Given the description of an element on the screen output the (x, y) to click on. 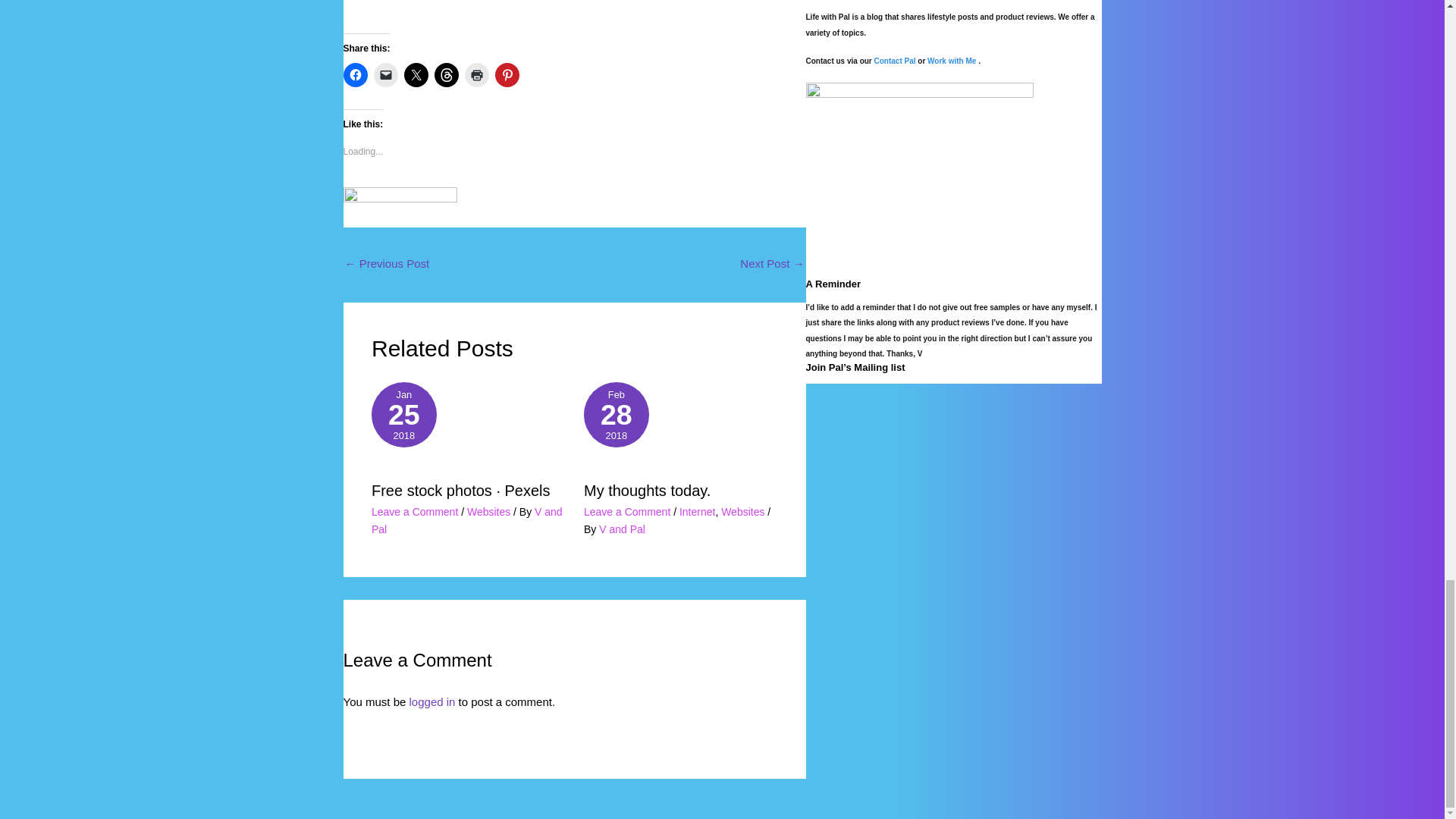
Click to share on Threads (445, 74)
Click to print (475, 74)
View all posts by V and Pal (621, 529)
Click to share on X (415, 74)
View all posts by V and Pal (466, 520)
Click to email a link to a friend (384, 74)
6 Truths About Having Crush (771, 264)
Click to share on Facebook (354, 74)
Click to share on Pinterest (506, 74)
